Given the description of an element on the screen output the (x, y) to click on. 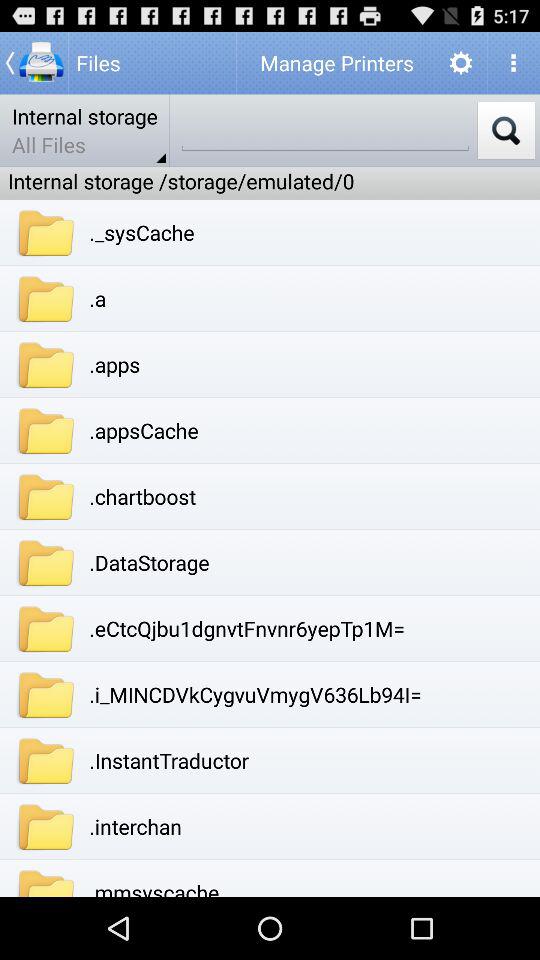
open app below .apps (143, 430)
